Given the description of an element on the screen output the (x, y) to click on. 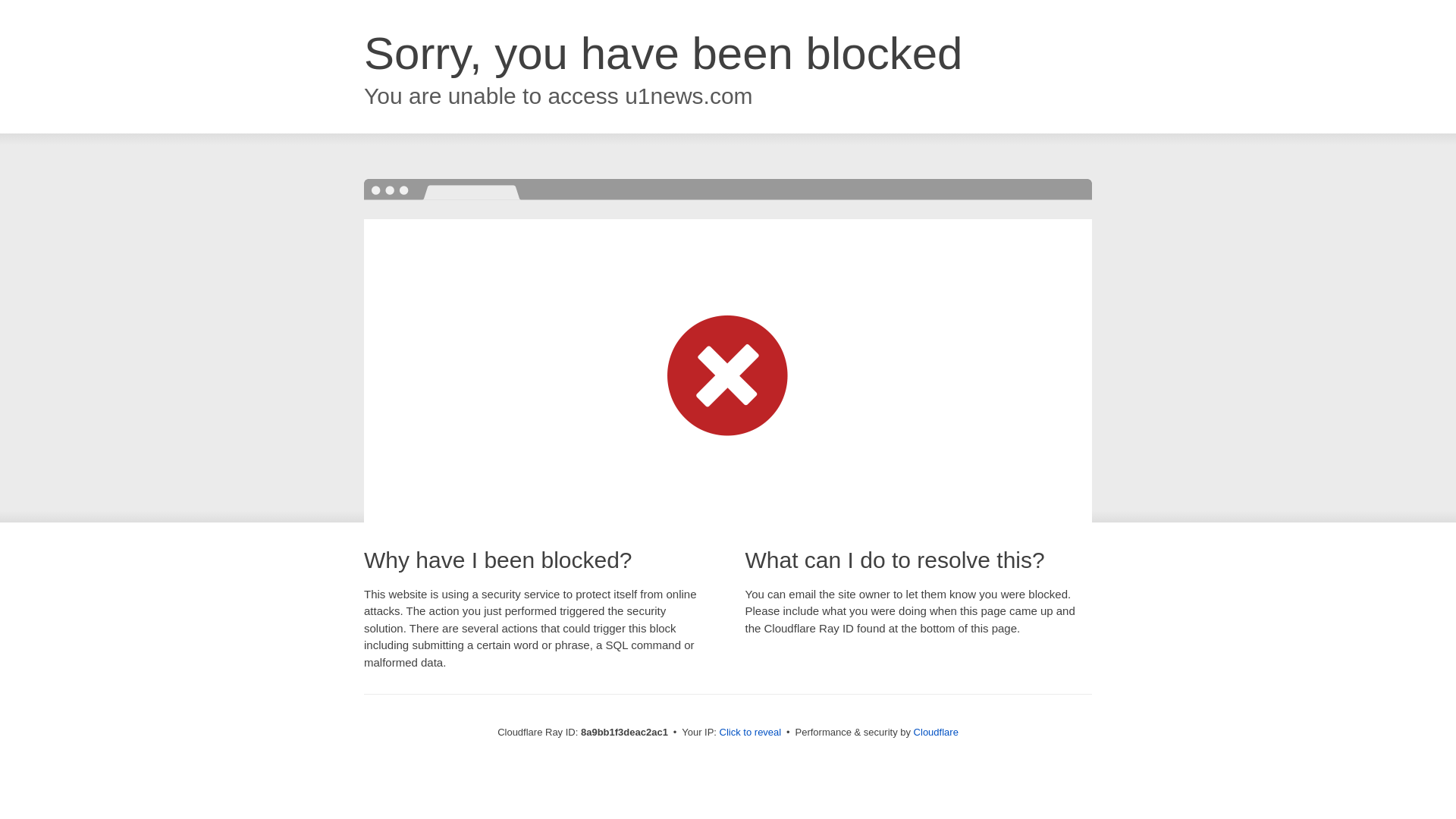
Cloudflare (936, 731)
Click to reveal (750, 732)
